Given the description of an element on the screen output the (x, y) to click on. 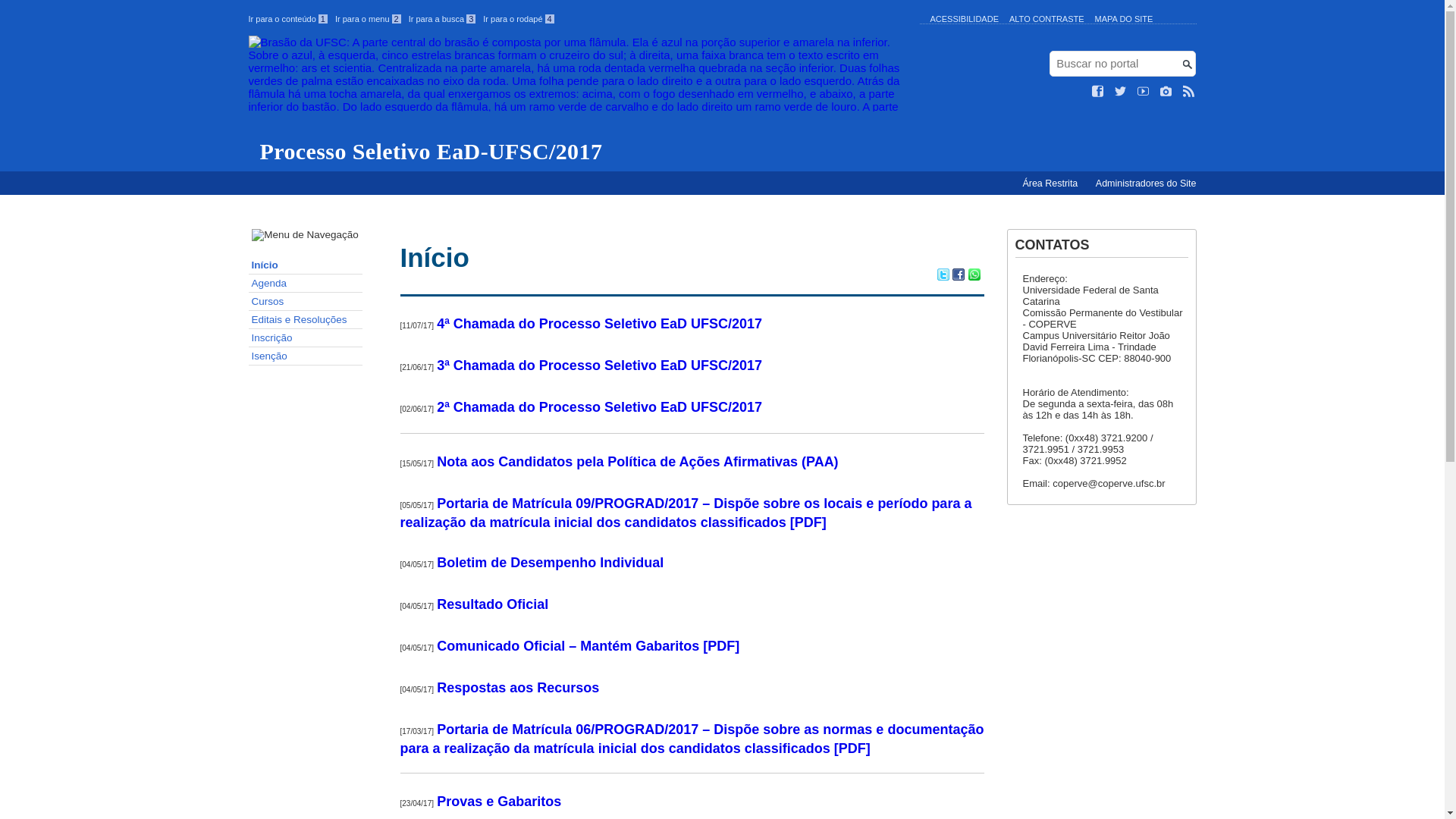
Curta no Facebook Element type: hover (1098, 91)
Provas e Gabaritos Element type: text (498, 801)
Veja no Instagram Element type: hover (1166, 91)
ALTO CONTRASTE Element type: text (1046, 18)
Siga no Twitter Element type: hover (1120, 91)
Administradores do Site Element type: text (1146, 183)
Compartilhar no WhatsApp Element type: hover (973, 275)
Resultado Oficial Element type: text (492, 603)
Agenda Element type: text (305, 283)
Compartilhar no Facebook Element type: hover (958, 275)
Compartilhar no Twitter Element type: hover (943, 275)
MAPA DO SITE Element type: text (1124, 18)
Processo Seletivo EaD-UFSC/2017 Element type: text (580, 99)
Ir para o menu 2 Element type: text (368, 18)
Ir para a busca 3 Element type: text (442, 18)
Respostas aos Recursos Element type: text (517, 687)
ACESSIBILIDADE Element type: text (963, 18)
Boletim de Desempenho Individual Element type: text (549, 562)
Cursos Element type: text (305, 301)
